Given the description of an element on the screen output the (x, y) to click on. 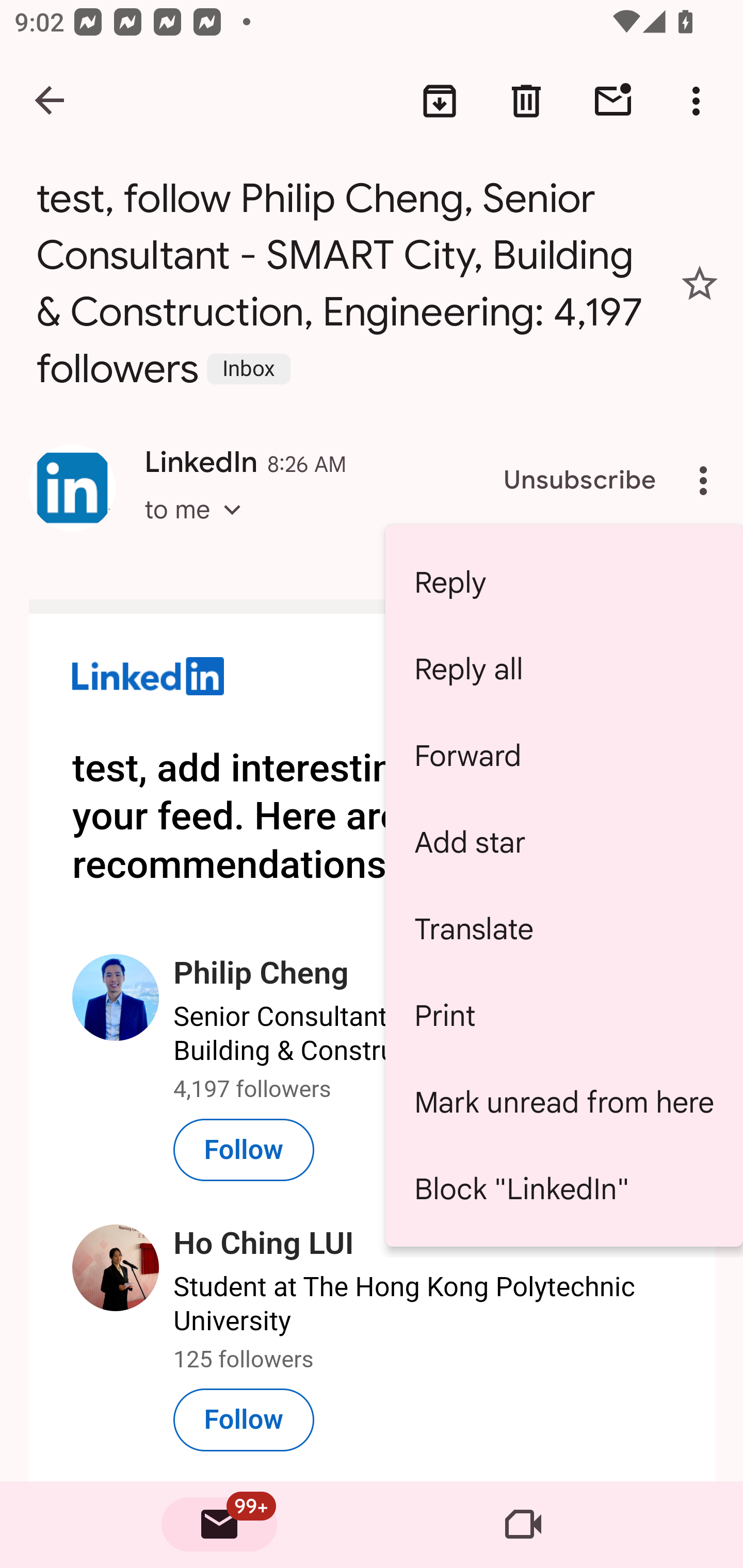
Reply (564, 582)
Reply all (564, 668)
Forward (564, 755)
Add star (564, 842)
Translate (564, 928)
Print (564, 1015)
Mark unread from here (564, 1102)
Block "LinkedIn" (564, 1189)
